Given the description of an element on the screen output the (x, y) to click on. 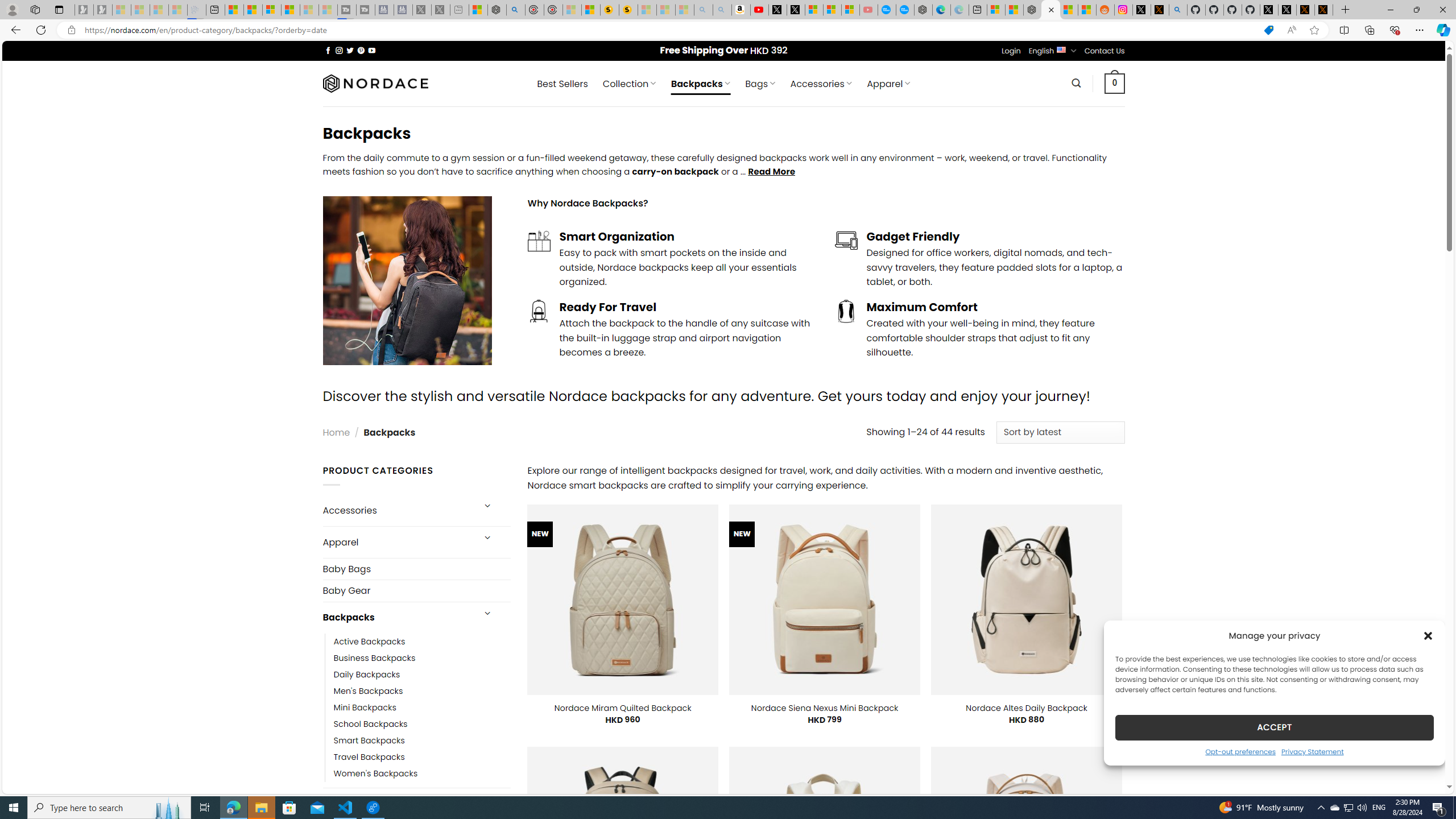
Smart Backpacks (422, 740)
Women's Backpacks (375, 773)
ACCEPT (1274, 727)
Nordace Altes Daily Backpack (1026, 708)
Class: cmplz-close (1428, 635)
Overview (271, 9)
Smart Backpacks (368, 740)
Daily Backpacks (422, 674)
